Given the description of an element on the screen output the (x, y) to click on. 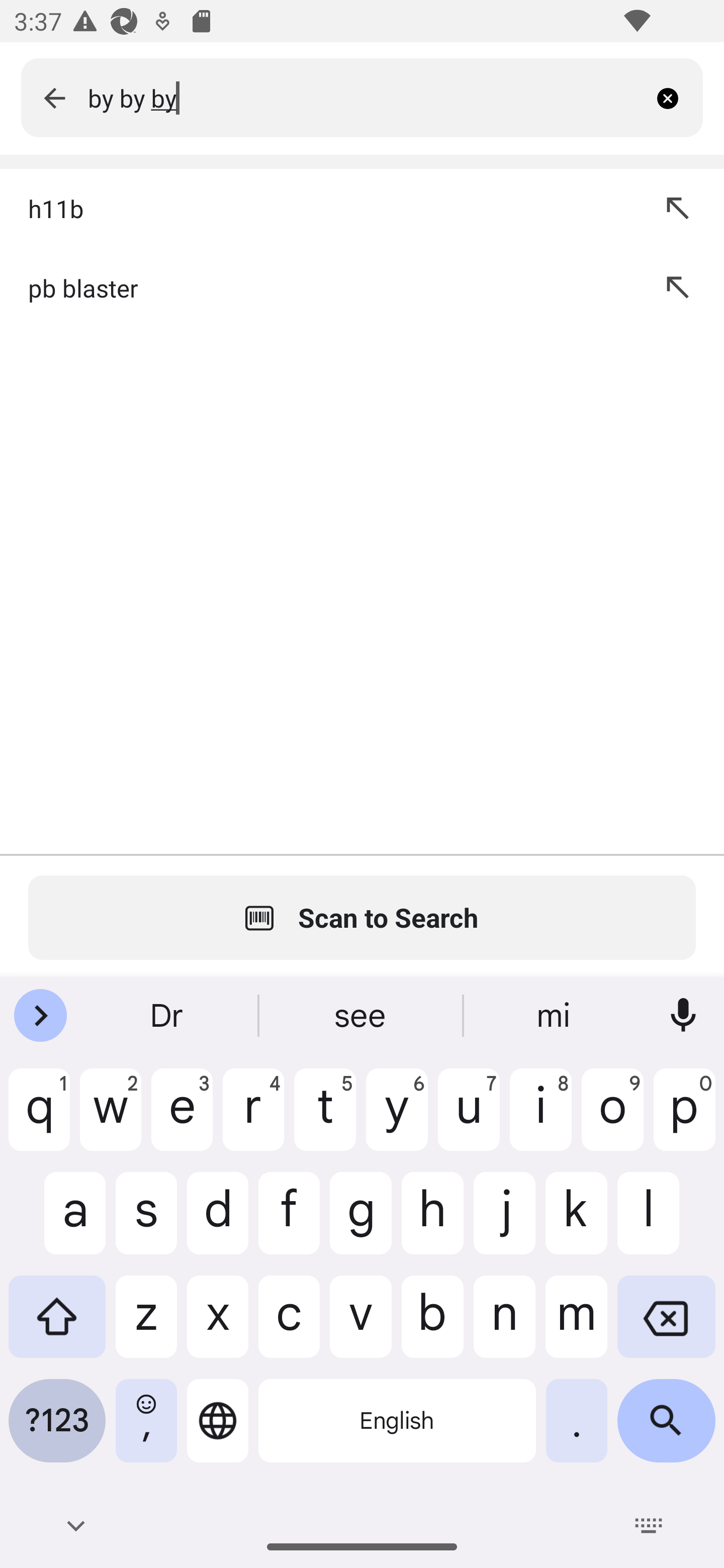
 (54, 97)
by by by Text input field (367, 97)
Clear search bar text  (674, 97)
h11b (322, 208)
pb blaster (322, 287)
